Given the description of an element on the screen output the (x, y) to click on. 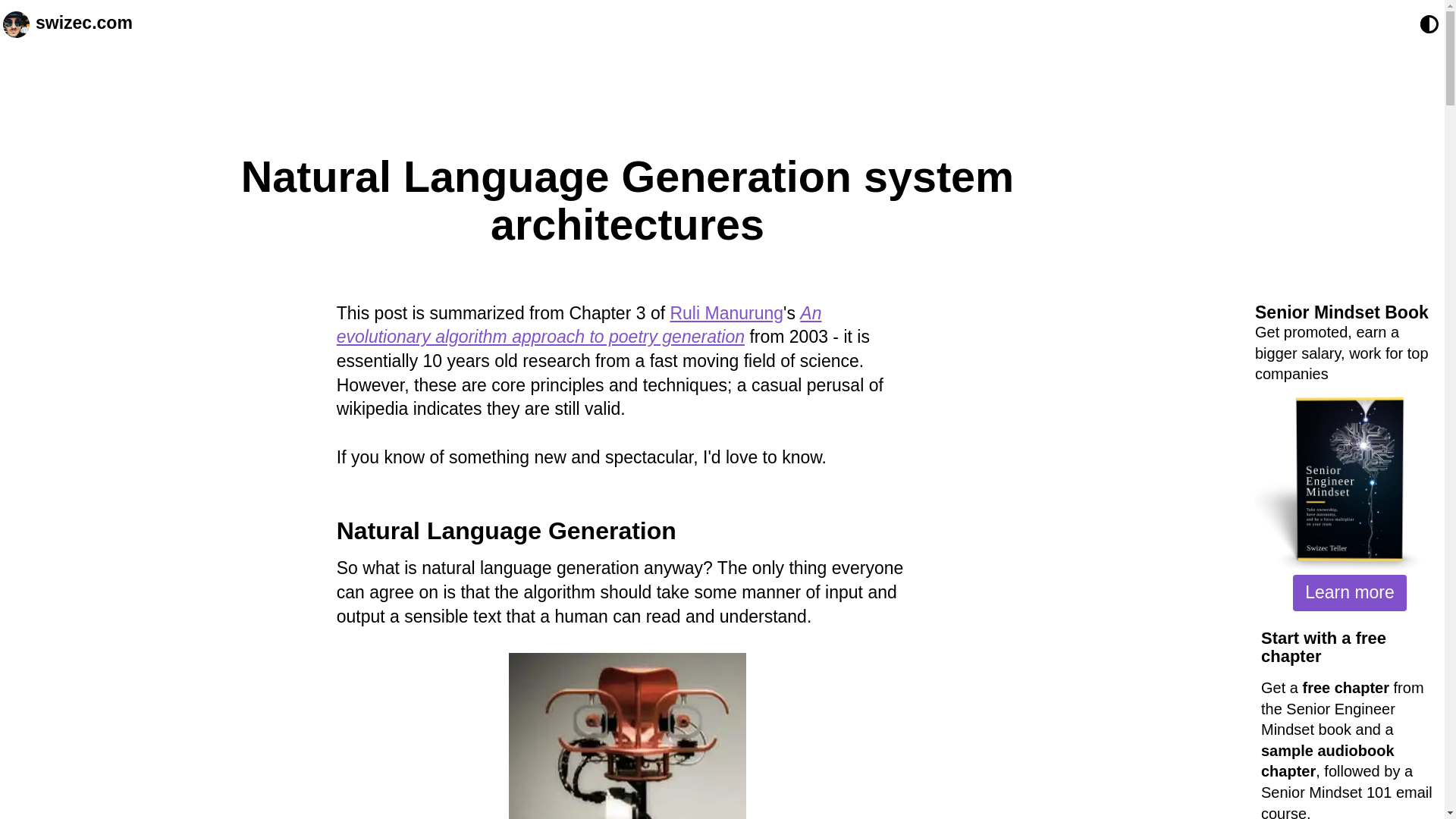
Natural Language Generation (506, 530)
Learn more (1349, 592)
Natural language generation (506, 530)
Ruli Manurung (726, 312)
swizec.com (83, 23)
Trisk - a conversational robot (626, 735)
Change color mode (1428, 24)
Start with a free chapter (1323, 646)
Swizec Teller - a geek with a hat (15, 23)
An evolutionary algorithm approach to poetry generation (579, 325)
